Given the description of an element on the screen output the (x, y) to click on. 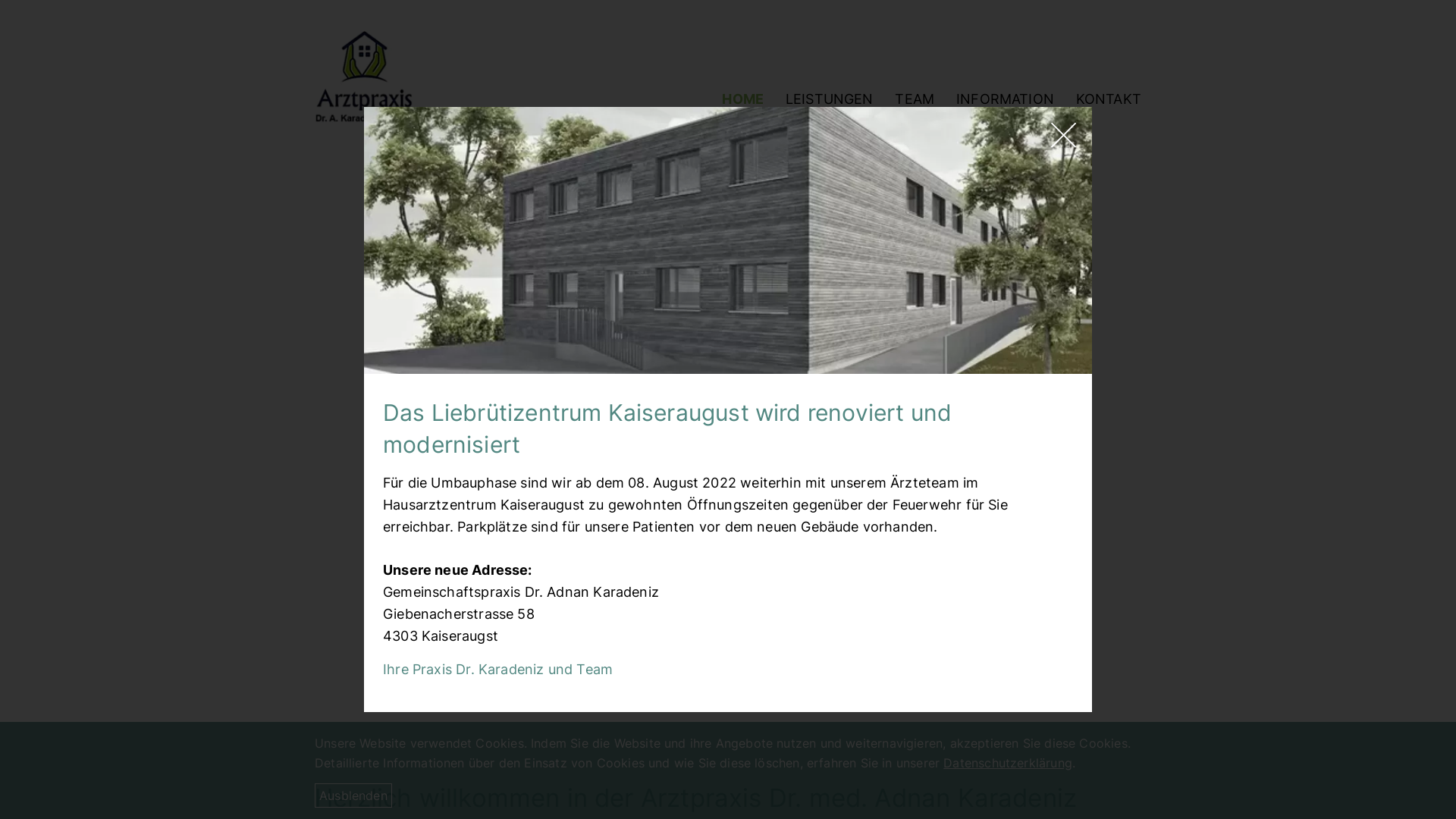
TEAM Element type: text (914, 100)
Giebenacherstrasse 58 Element type: text (458, 613)
LEISTUNGEN Element type: text (829, 100)
INFORMATION Element type: text (1005, 100)
KONTAKT Element type: text (1102, 100)
Ausblenden Element type: text (353, 795)
